Given the description of an element on the screen output the (x, y) to click on. 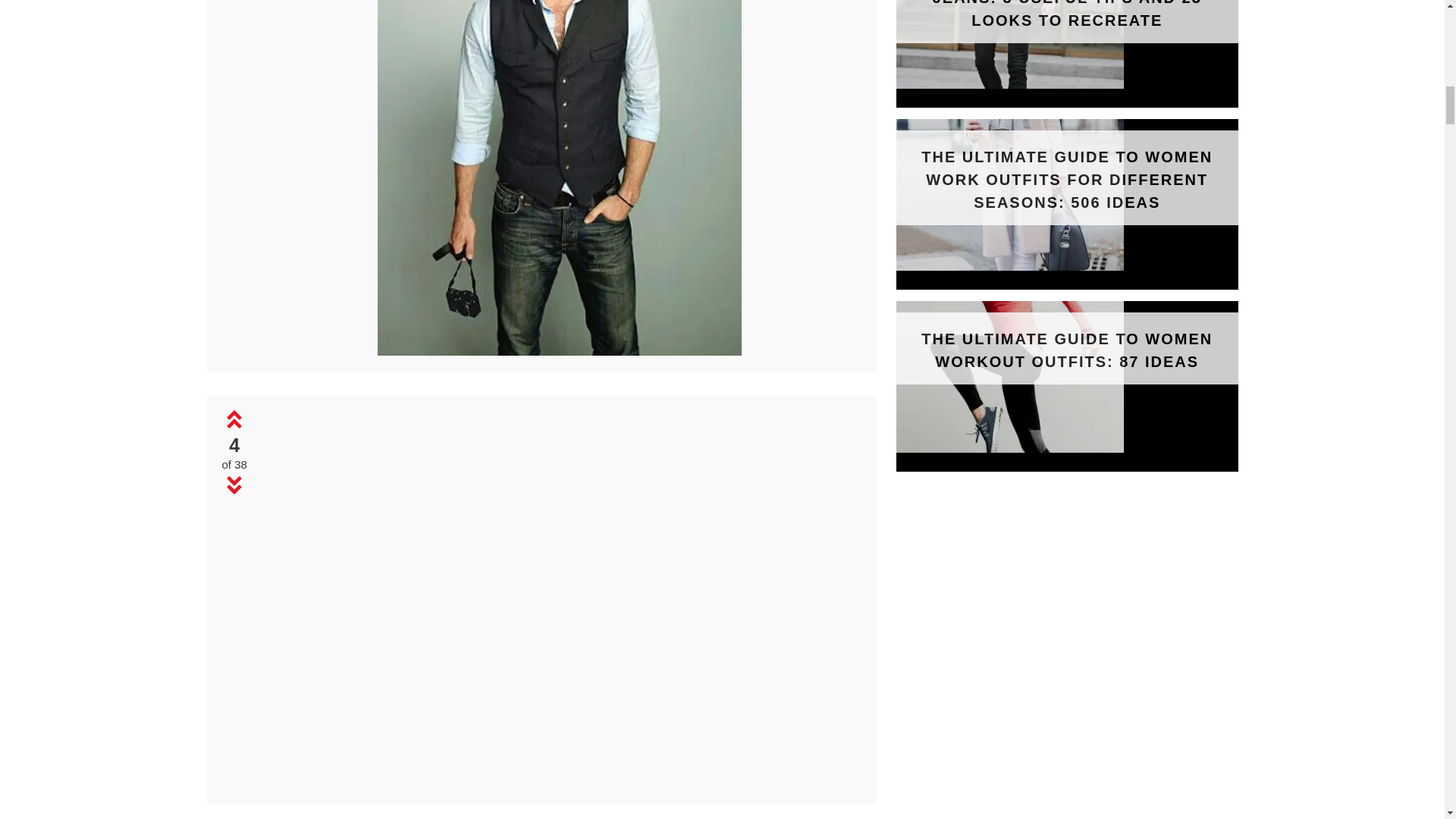
Stylish Men Looks With Jeans Suitable For Work (559, 350)
Stylish Men Looks With Jeans Suitable For Work (559, 177)
Stylish Men Looks With Jeans Suitable For Work (559, 782)
